Given the description of an element on the screen output the (x, y) to click on. 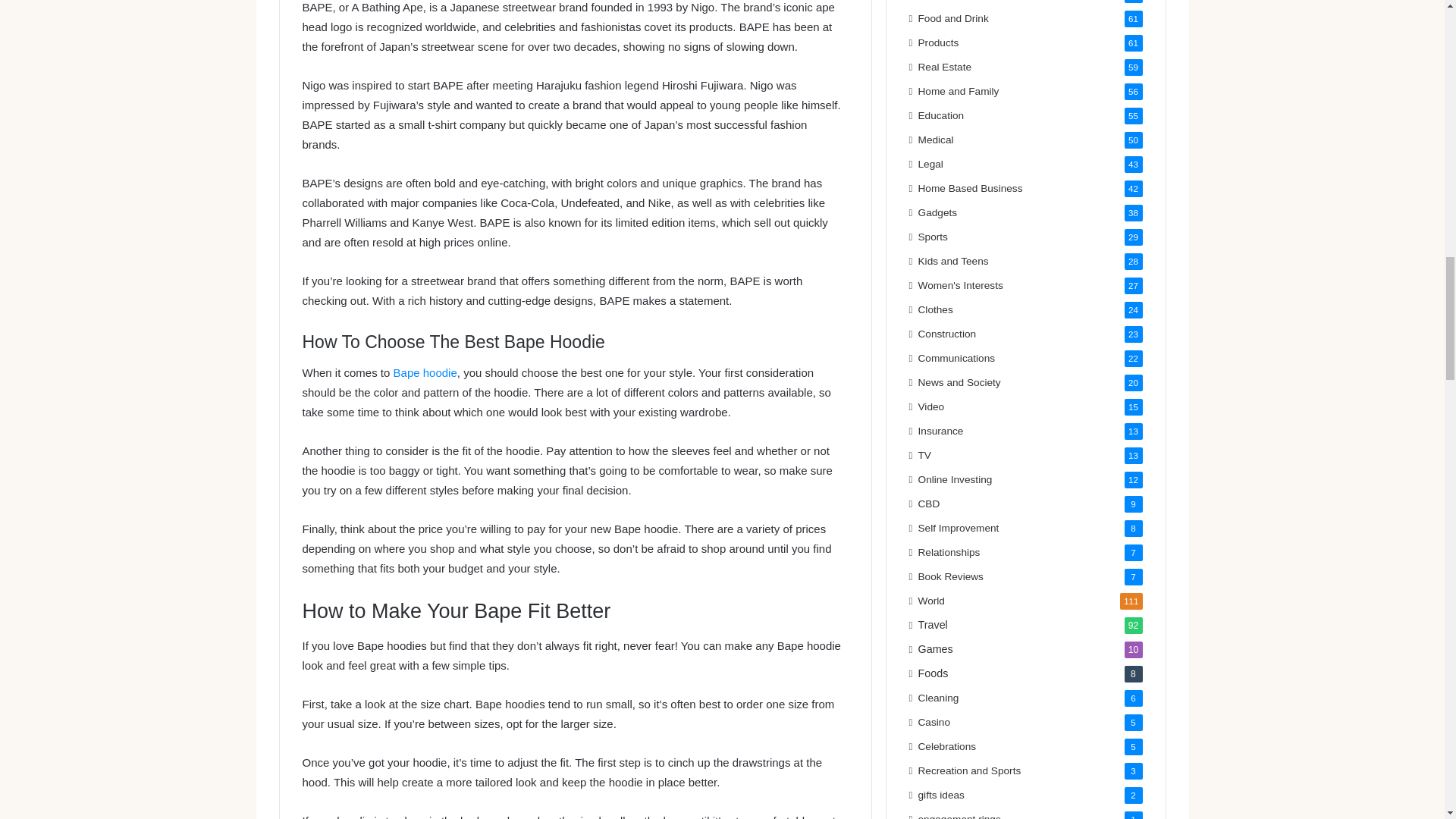
Bape hoodie (425, 372)
